Given the description of an element on the screen output the (x, y) to click on. 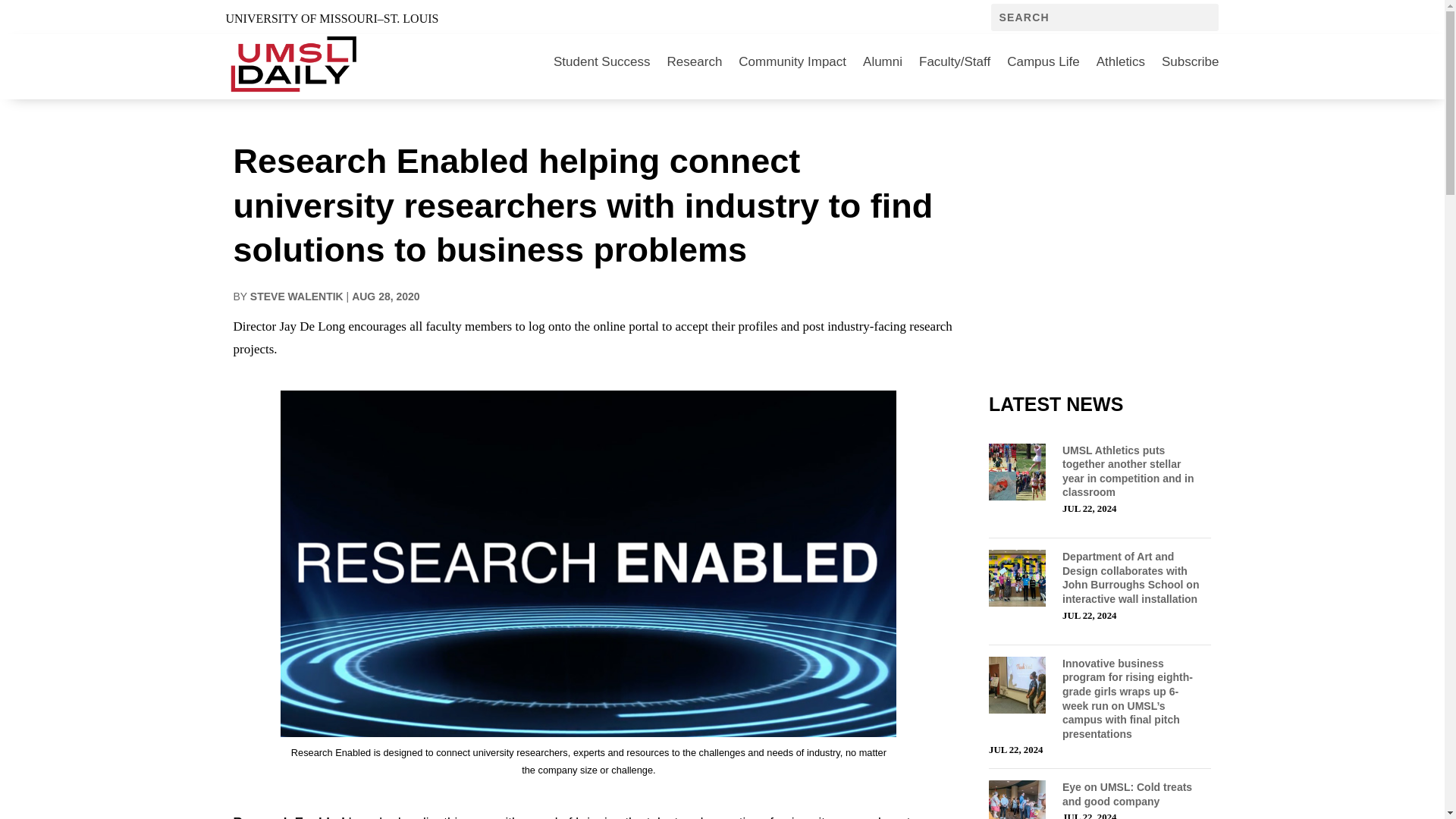
Posts by Steve Walentik (296, 295)
Student Success (601, 62)
Search (29, 13)
Subscribe (1190, 62)
Community Impact (791, 62)
Research (694, 62)
Campus Life (1042, 62)
Subscribe (1190, 62)
Research Enabled (288, 816)
STEVE WALENTIK (296, 295)
Eye on UMSL: Cold treats and good company (1127, 794)
